Given the description of an element on the screen output the (x, y) to click on. 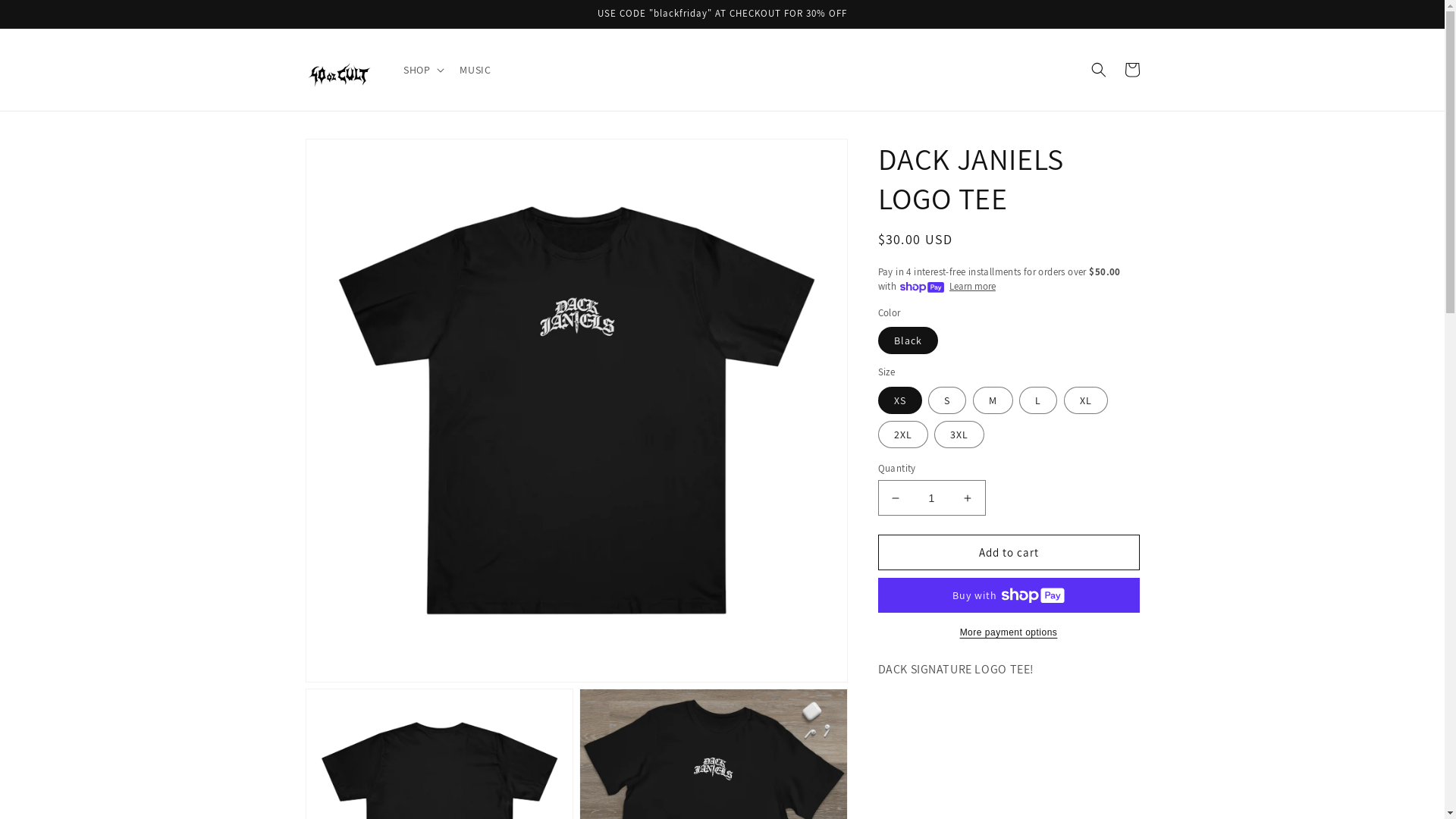
Skip to product information Element type: text (350, 155)
Decrease quantity for DACK JANIELS LOGO TEE Element type: text (895, 497)
Add to cart Element type: text (1008, 552)
MUSIC Element type: text (474, 69)
Cart Element type: text (1131, 69)
Increase quantity for DACK JANIELS LOGO TEE Element type: text (967, 497)
More payment options Element type: text (1008, 632)
